Given the description of an element on the screen output the (x, y) to click on. 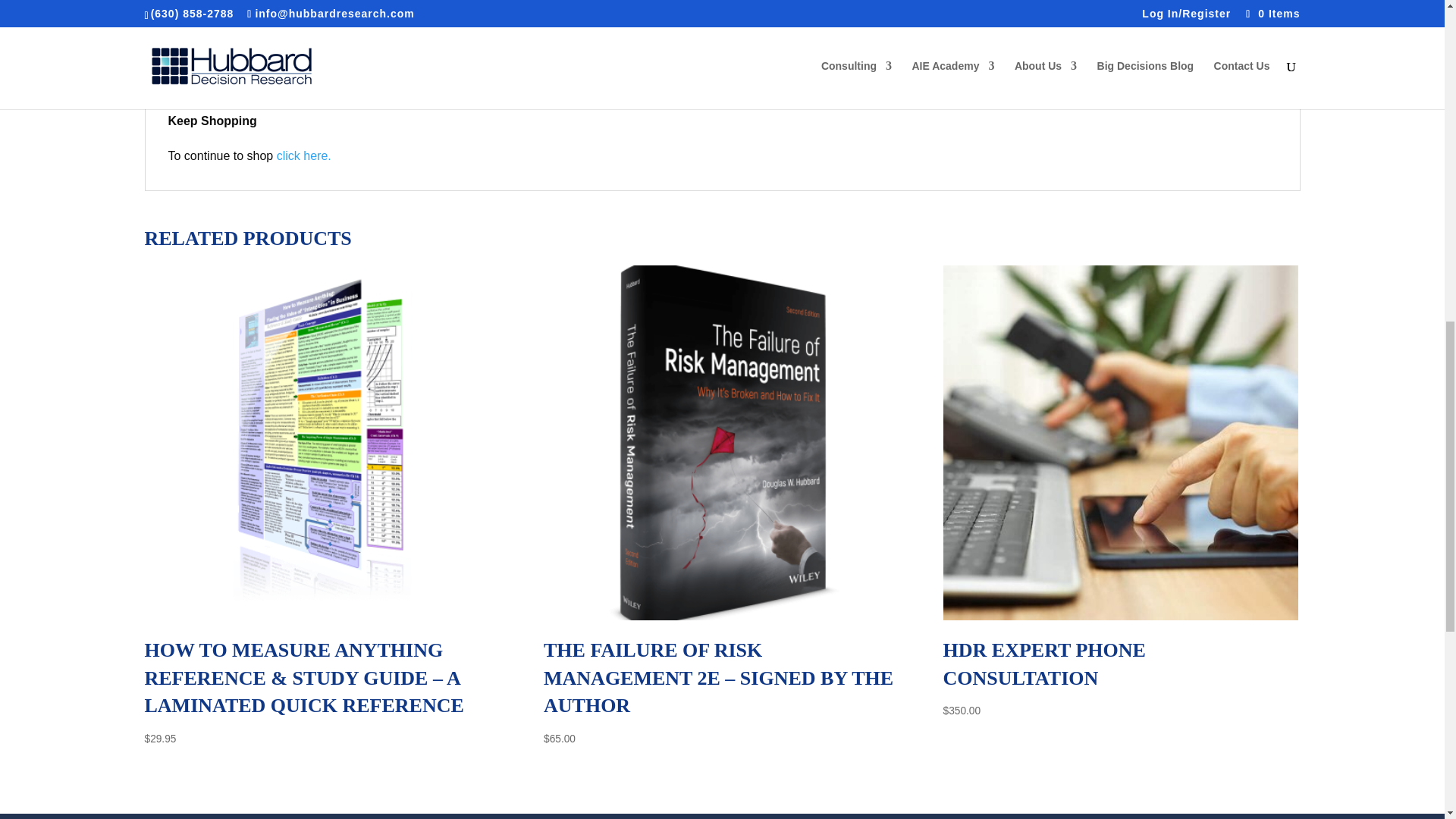
click here. (303, 155)
